Given the description of an element on the screen output the (x, y) to click on. 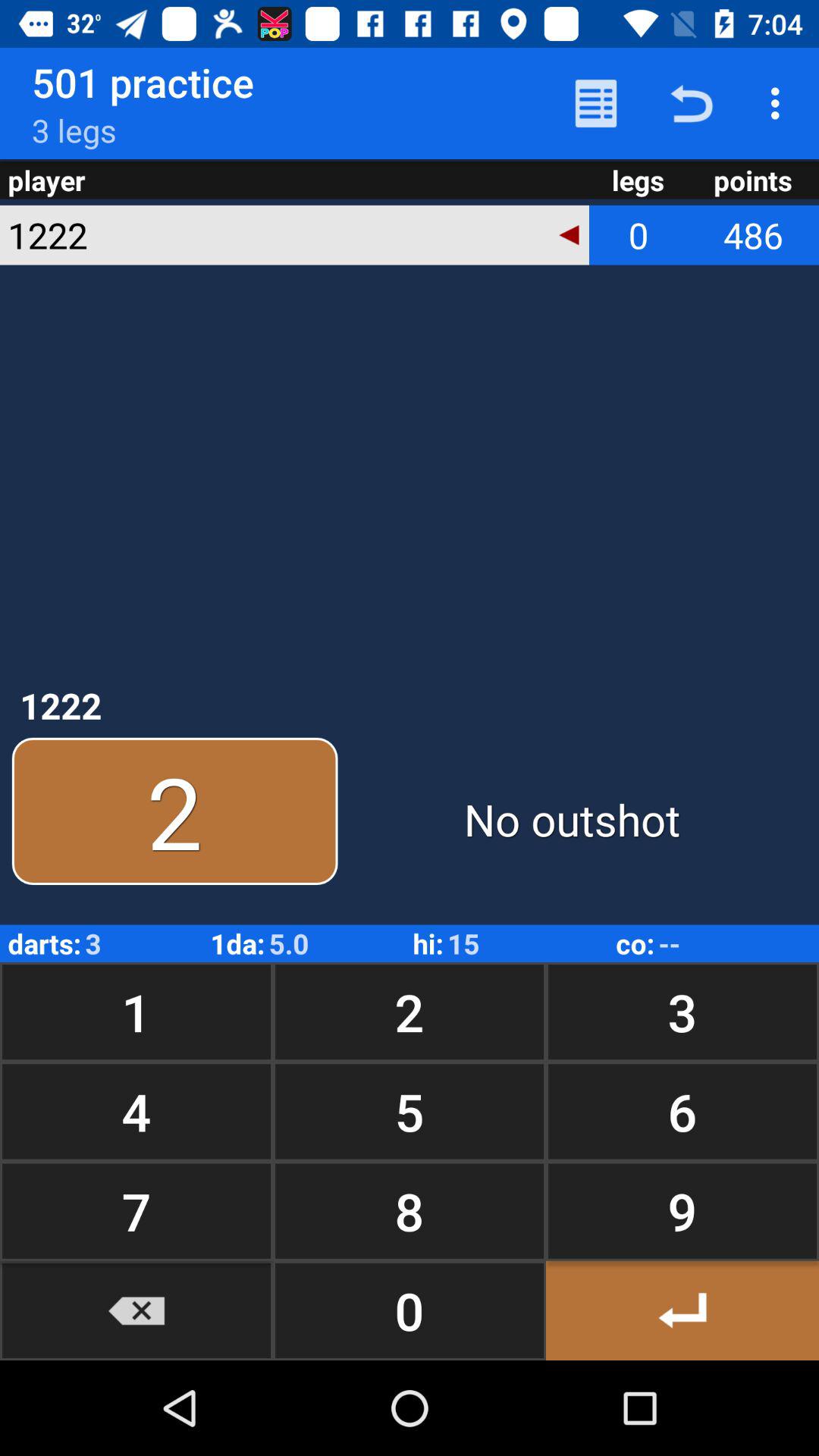
press item below 4 button (136, 1210)
